Given the description of an element on the screen output the (x, y) to click on. 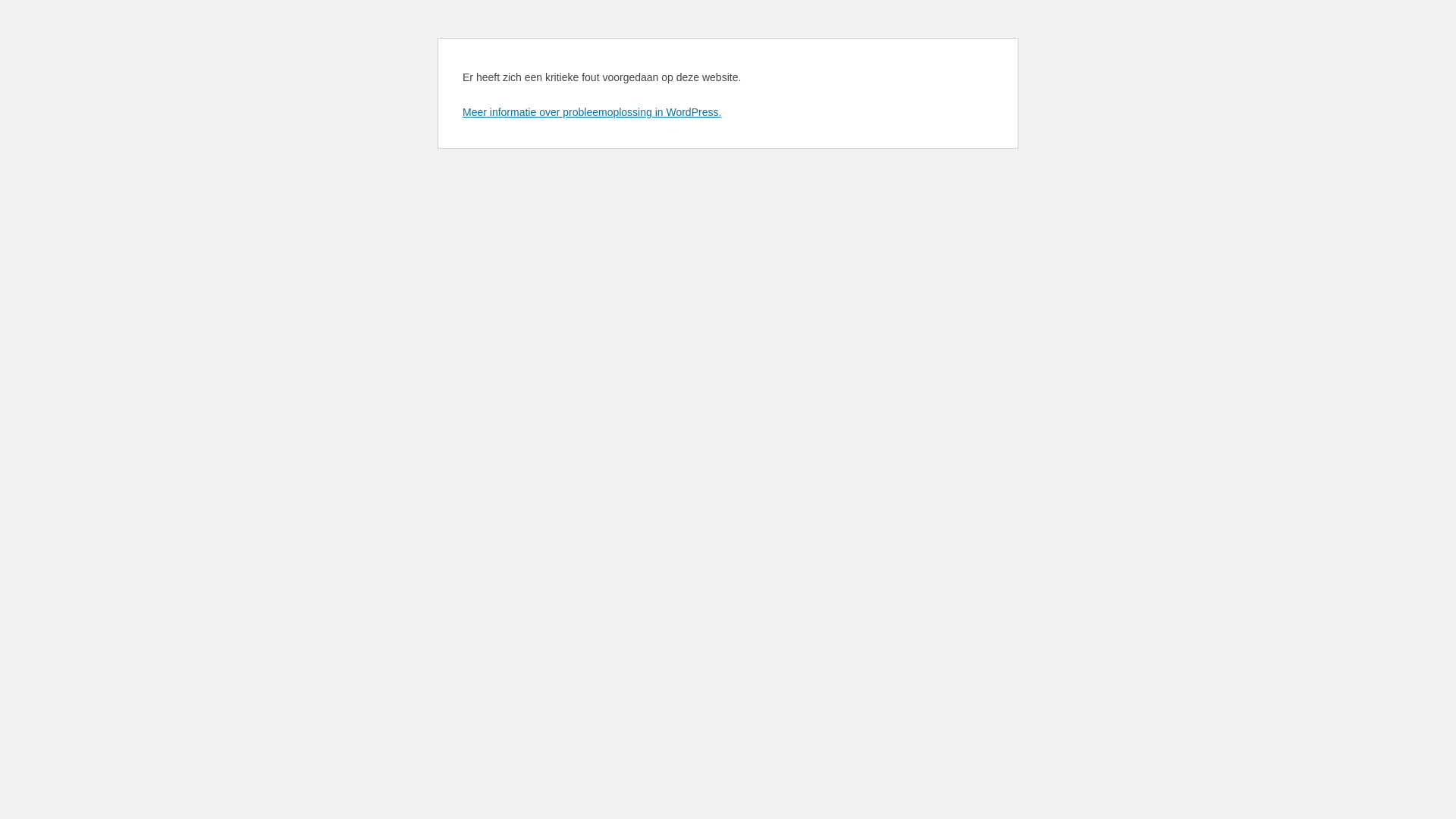
Meer informatie over probleemoplossing in WordPress. Element type: text (591, 112)
